Given the description of an element on the screen output the (x, y) to click on. 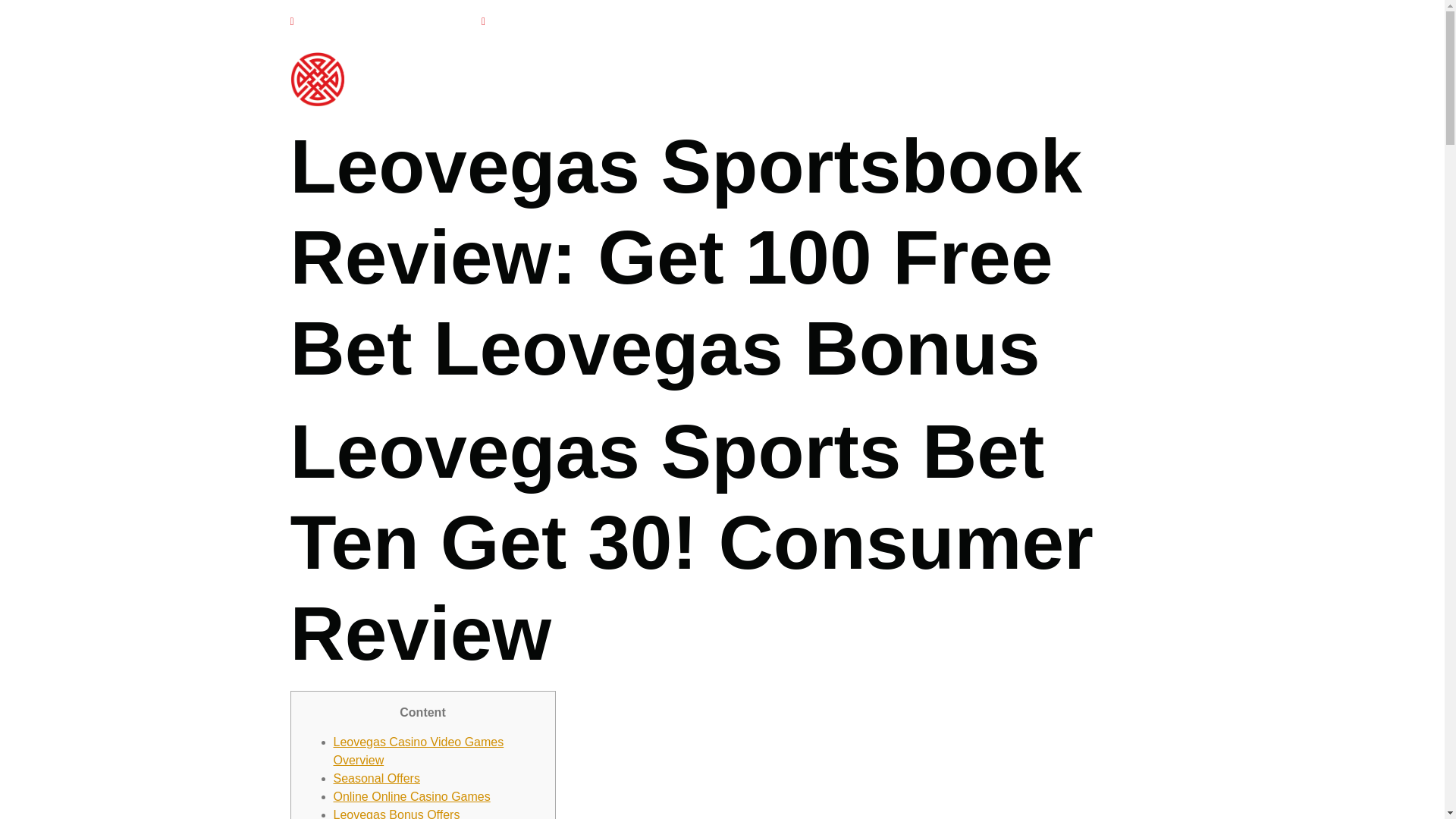
Seasonal Offers (376, 778)
Leovegas Casino Video Games Overview (418, 750)
HOME (711, 79)
Leovegas Bonus Offers (396, 813)
Online Online Casino Games (411, 796)
CONTACT US (1101, 79)
ABOUT US (789, 79)
INVESTORS (884, 79)
SELF-CERTIFY (990, 79)
